Given the description of an element on the screen output the (x, y) to click on. 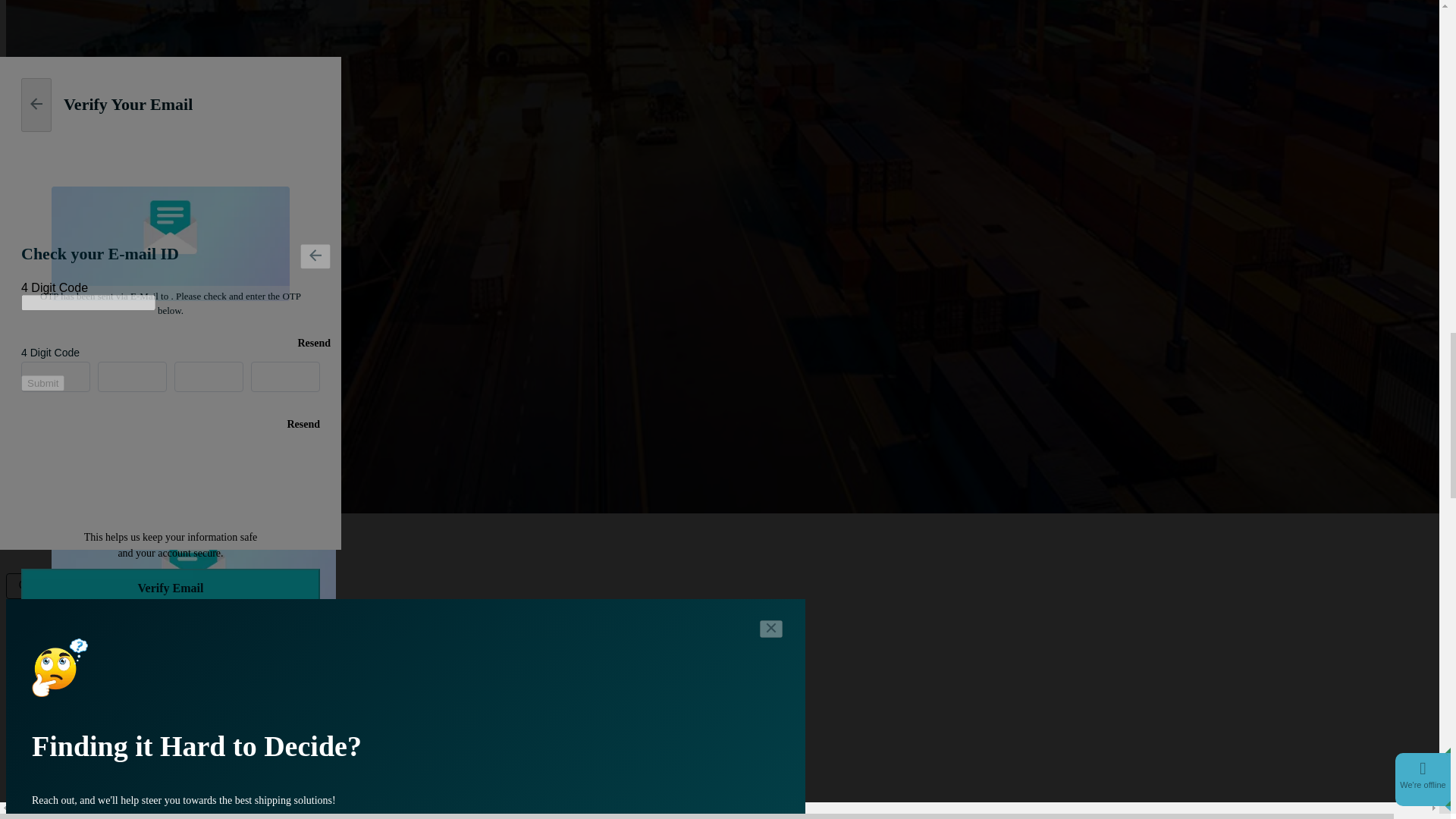
viaotp (33, 199)
viapassword (113, 199)
Confirm (103, 585)
